Given the description of an element on the screen output the (x, y) to click on. 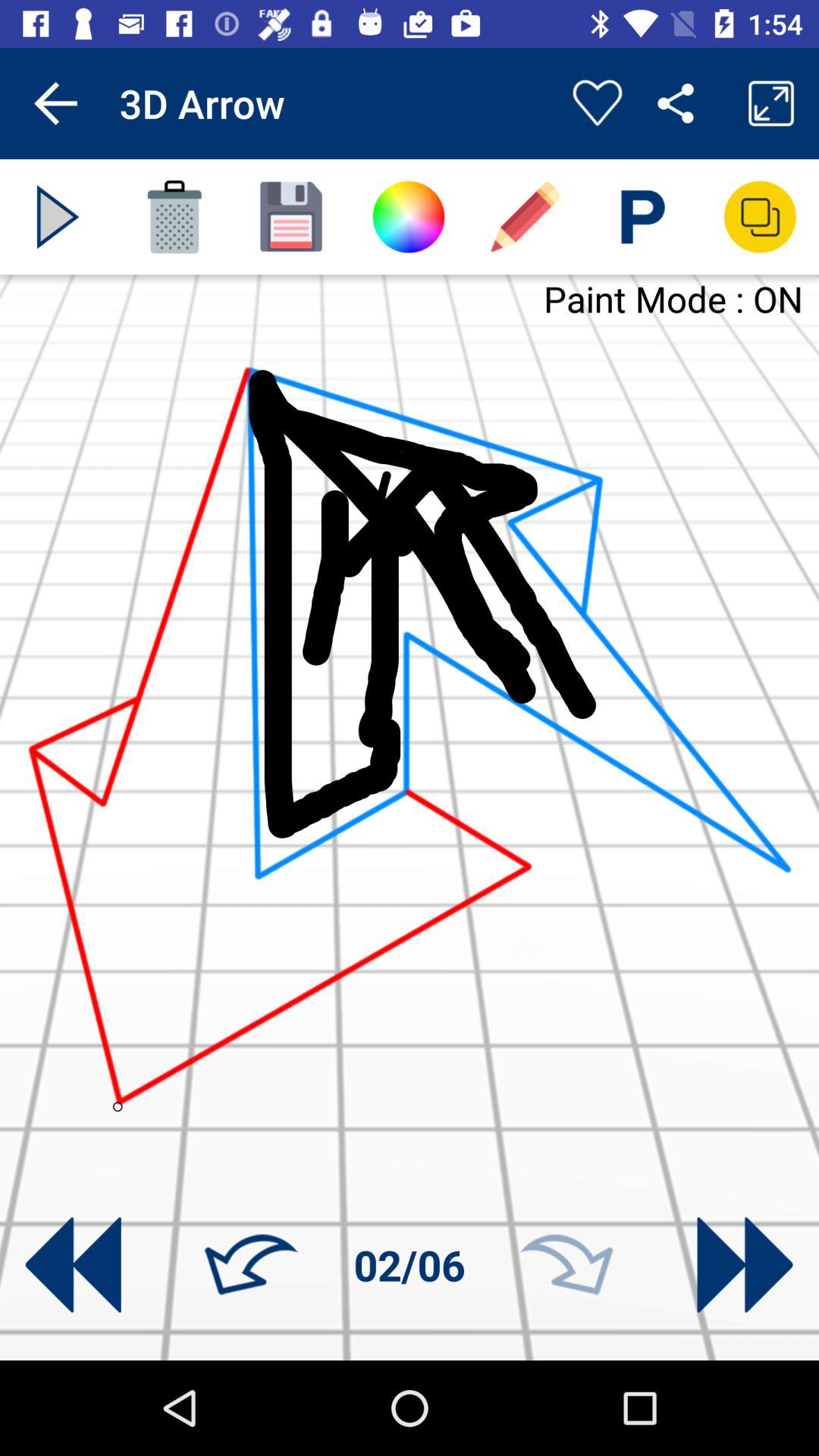
go to next (566, 1264)
